Given the description of an element on the screen output the (x, y) to click on. 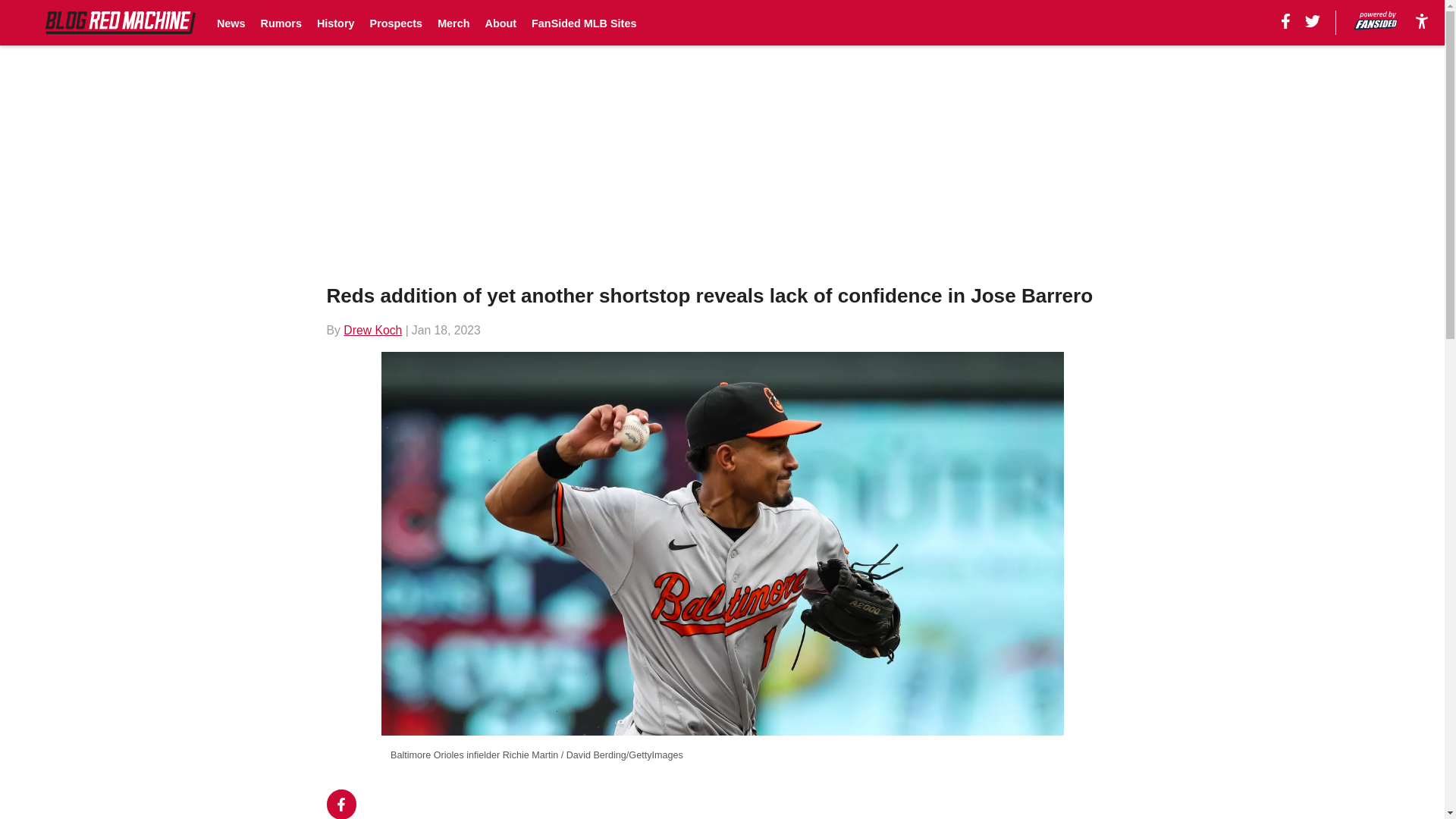
Prospects (396, 23)
Rumors (280, 23)
History (336, 23)
Drew Koch (372, 329)
Merch (453, 23)
News (231, 23)
FanSided MLB Sites (583, 23)
About (500, 23)
